Given the description of an element on the screen output the (x, y) to click on. 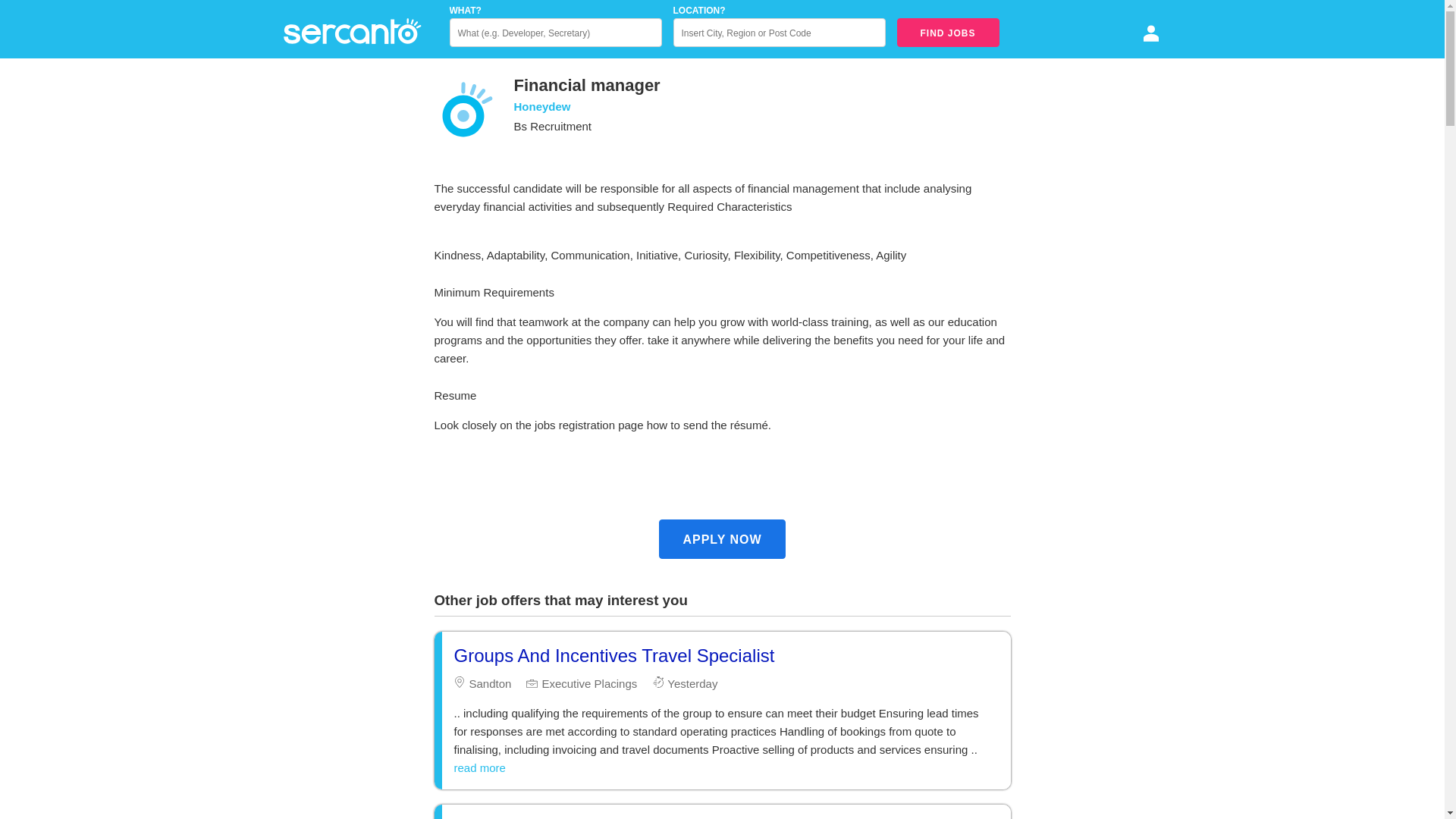
FIND JOBS (947, 32)
read more (478, 767)
APPLY NOW (721, 538)
Groups And Incentives Travel Specialist (613, 655)
